Given the description of an element on the screen output the (x, y) to click on. 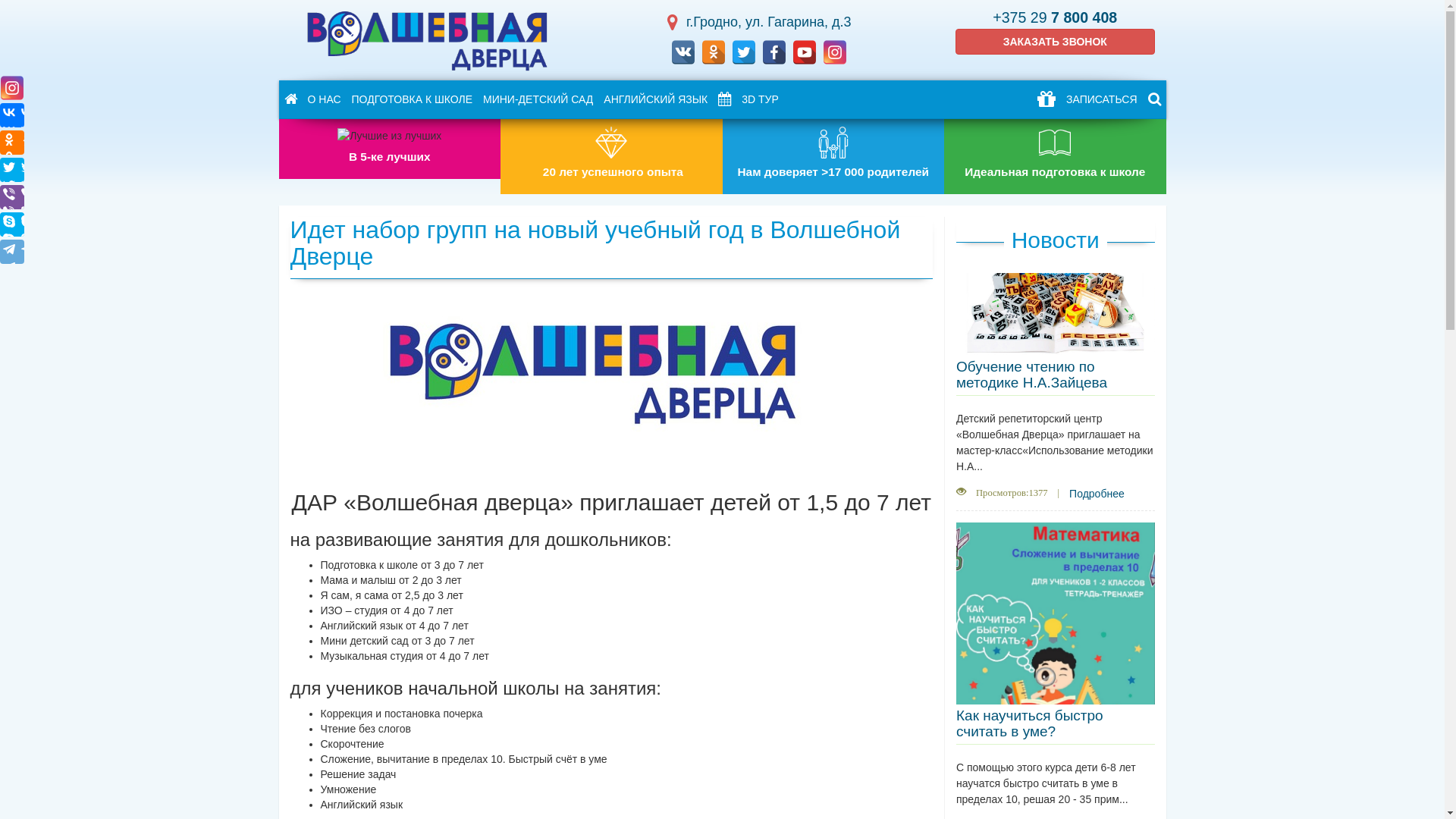
Telegram Element type: hover (12, 251)
Skype Element type: hover (12, 224)
Viber Element type: hover (12, 197)
Twitter Element type: hover (12, 169)
Instagram Element type: hover (12, 87)
+375 29 7 800 408 Element type: text (1054, 17)
